Given the description of an element on the screen output the (x, y) to click on. 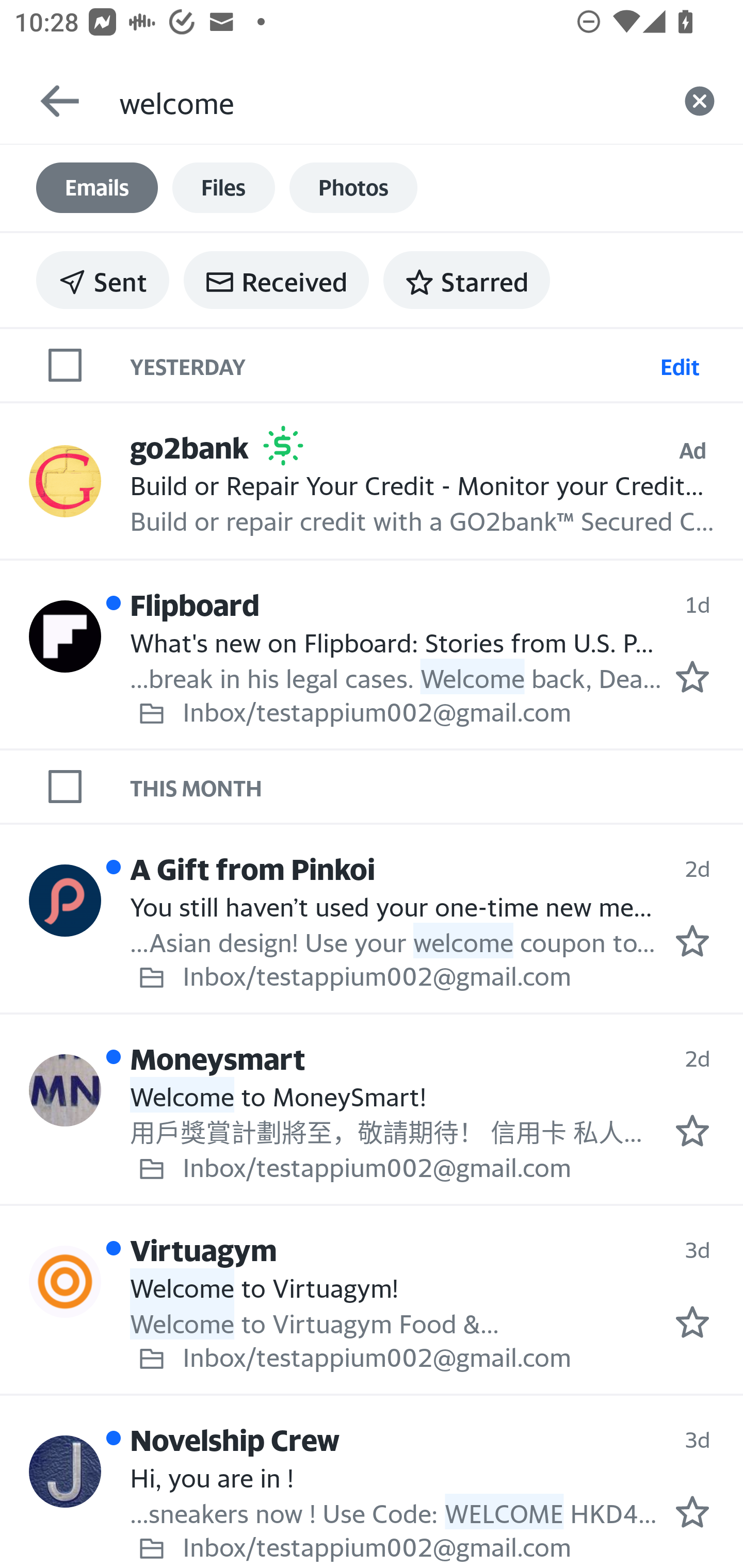
Back (50, 101)
welcome (387, 101)
Clear (699, 101)
Emails (96, 188)
Files (223, 188)
Photos (353, 188)
Sent (102, 279)
Received (276, 279)
Starred (466, 279)
YESTERDAY (391, 364)
Edit Select emails (679, 364)
Sponsored (282, 445)
Ad (692, 449)
Profile
Flipboard (64, 636)
Mark as starred. (692, 676)
THIS MONTH (436, 786)
Profile
A Gift from Pinkoi (64, 899)
Mark as starred. (692, 940)
Profile
Moneysmart (64, 1089)
Mark as starred. (692, 1131)
Profile
Virtuagym (64, 1280)
Mark as starred. (692, 1322)
Profile
Novelship Crew (64, 1471)
Mark as starred. (692, 1512)
